Given the description of an element on the screen output the (x, y) to click on. 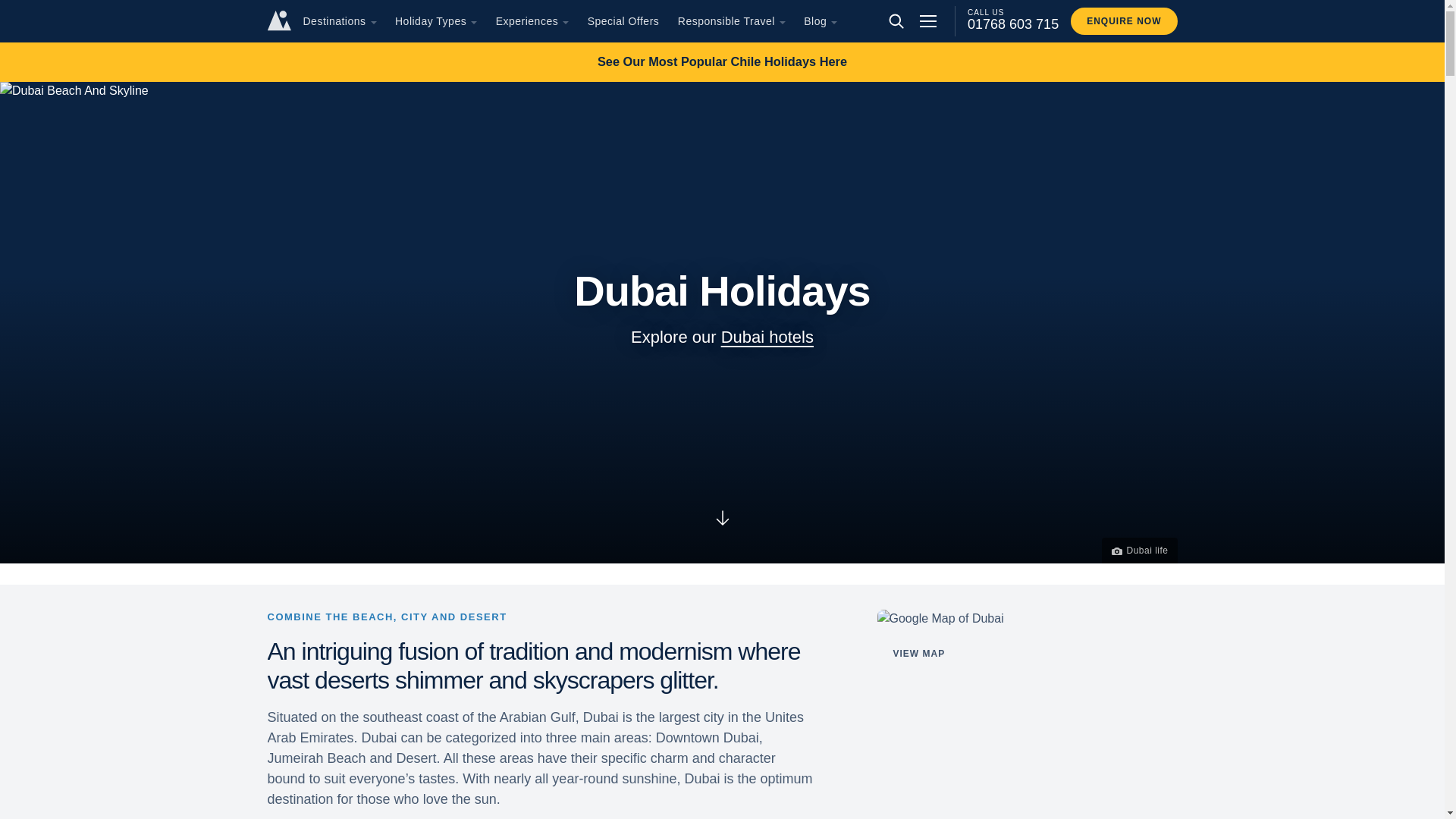
Google Map of Dubai (1026, 618)
Destinations (334, 21)
Dubai Beach And Skyline (74, 90)
